Given the description of an element on the screen output the (x, y) to click on. 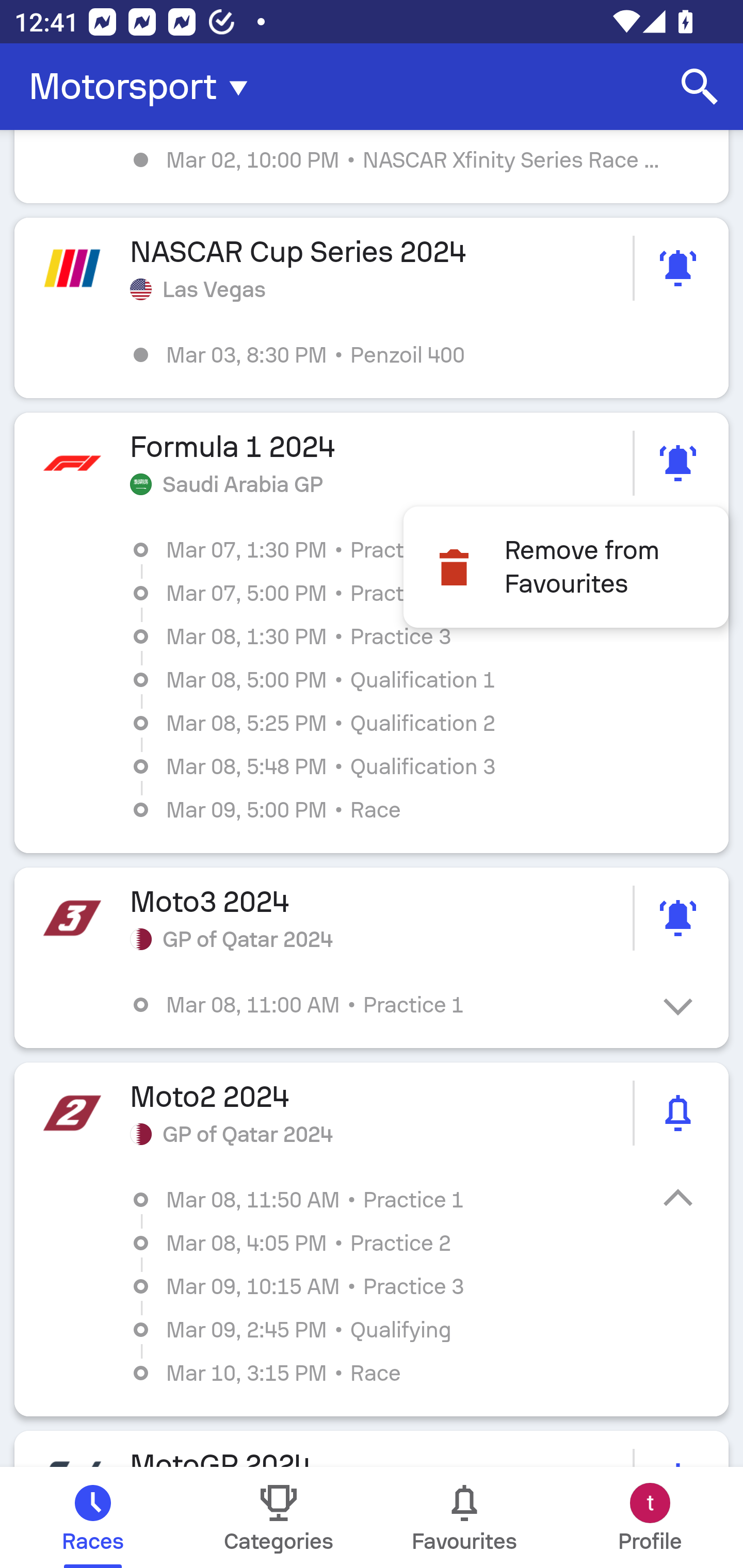
Remove from Favourites (565, 566)
